Given the description of an element on the screen output the (x, y) to click on. 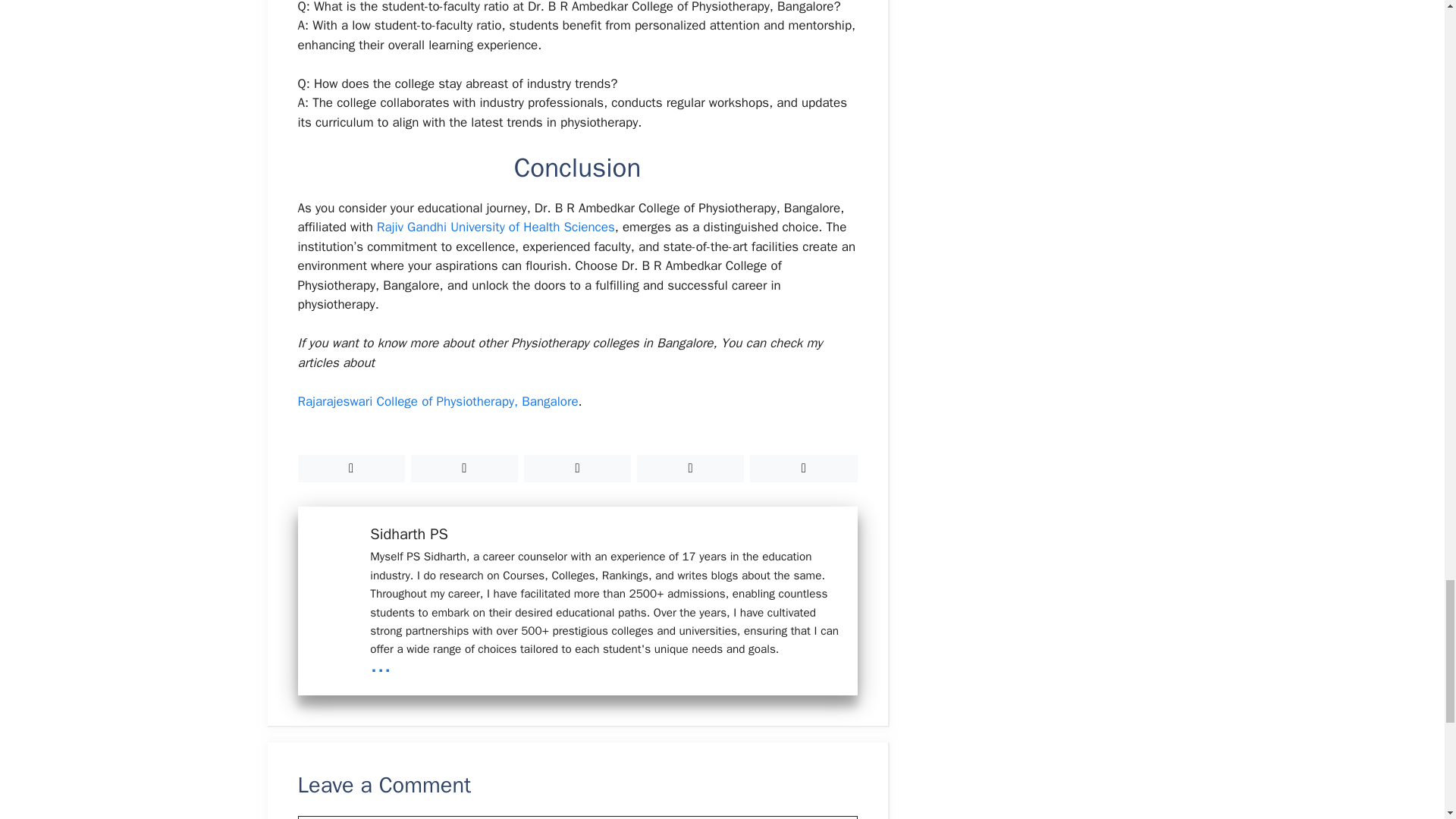
Rajiv Gandhi University of Health Sciences (495, 227)
Read more (380, 664)
Rajarajeswari College of Physiotherapy, Bangalore (437, 401)
... (380, 664)
